Given the description of an element on the screen output the (x, y) to click on. 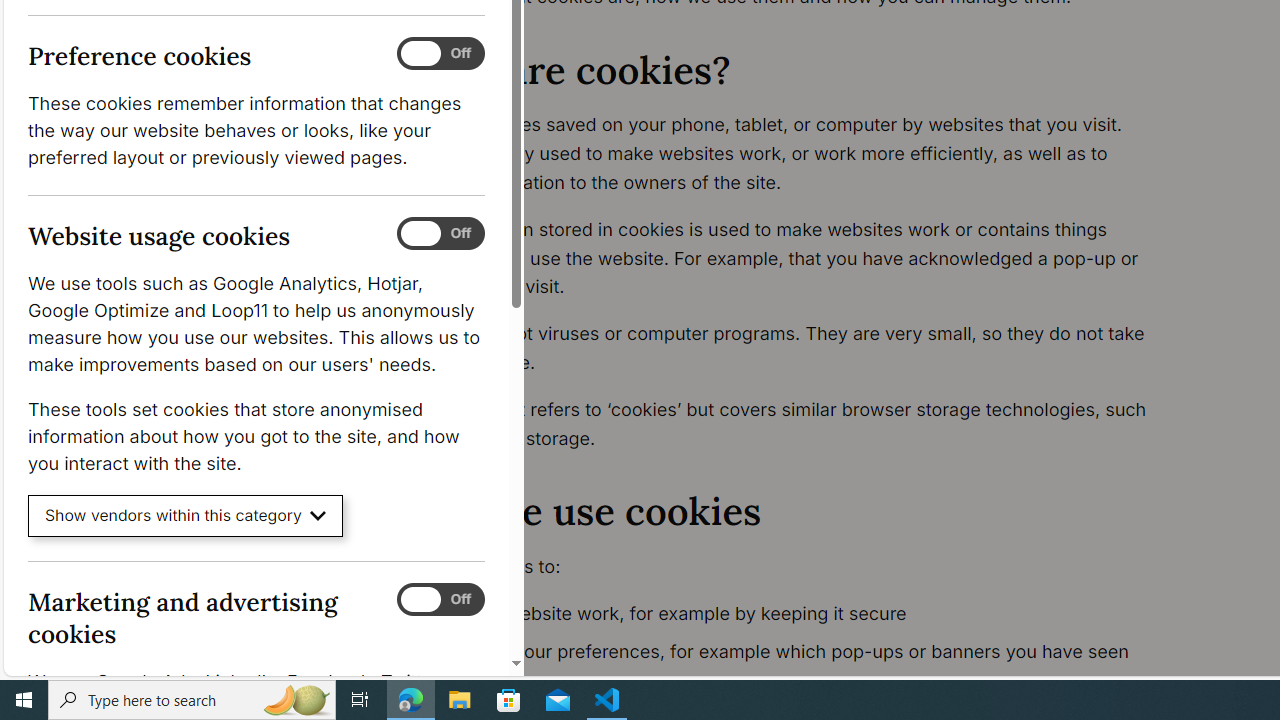
Marketing and advertising cookies (440, 599)
Preference cookies (440, 53)
Website usage cookies (440, 233)
Show vendors within this category (185, 516)
make our website work, for example by keeping it secure (796, 614)
